Given the description of an element on the screen output the (x, y) to click on. 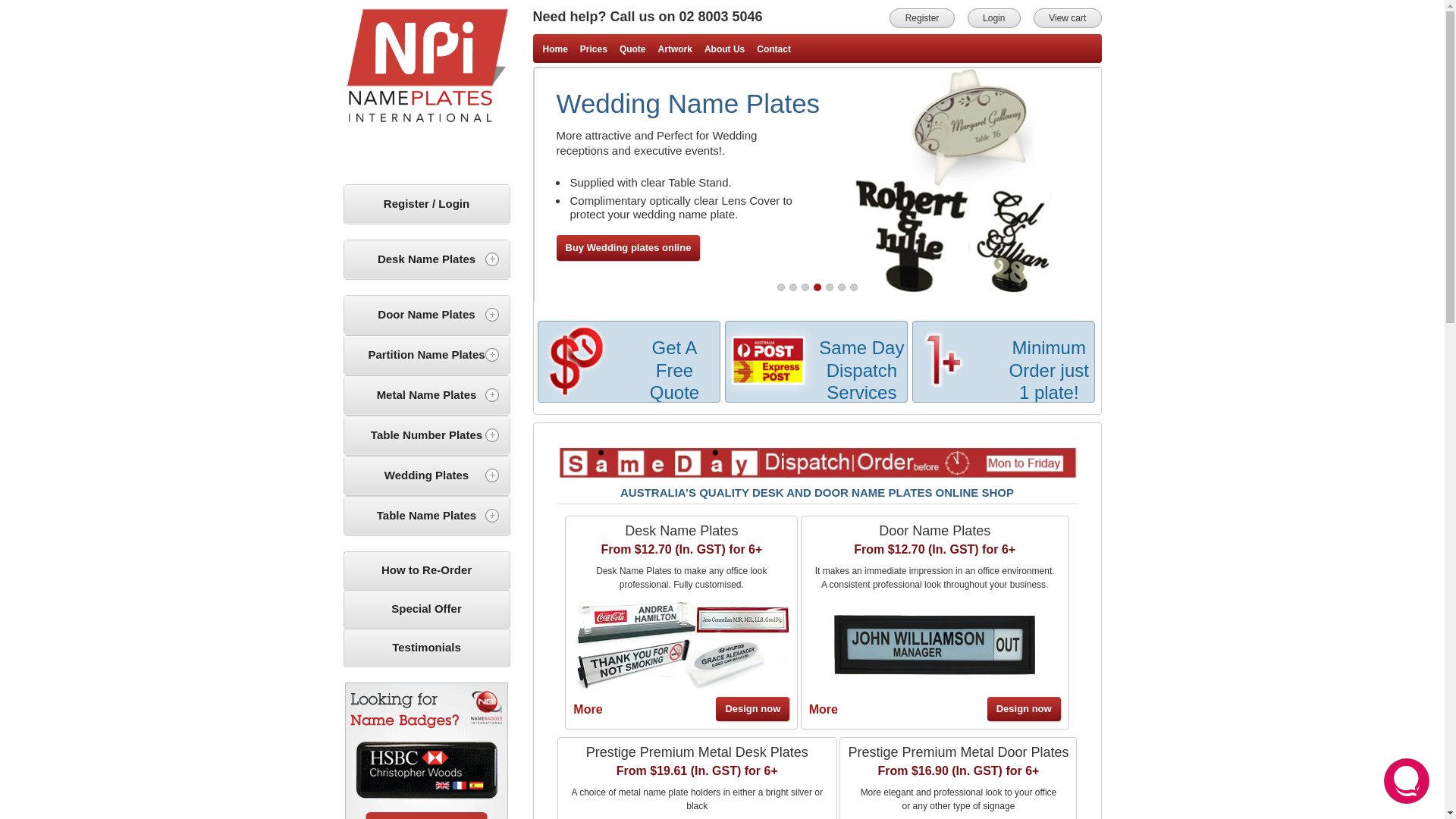
Artwork Element type: text (675, 49)
Prices Element type: text (593, 49)
More Element type: text (587, 709)
Prestige Premium Metal Desk Plates Element type: text (697, 752)
4 Element type: text (816, 287)
Door Name Plates Element type: text (934, 530)
Live Chat Element type: hover (1406, 780)
Testimonials Element type: text (426, 647)
Special Offer Element type: text (426, 608)
Login Element type: text (993, 18)
Quote Element type: text (632, 49)
Contact Element type: text (773, 49)
Desk Name Plates Element type: text (426, 259)
More Element type: text (823, 709)
About Us Element type: text (724, 49)
5 Element type: text (828, 287)
Name Plates Fast Delivery Australia Wide Element type: hover (817, 462)
Same Day
Dispatch Services Element type: text (816, 361)
Table Name Plates Element type: text (426, 515)
Design now Element type: text (752, 708)
1 Element type: text (780, 287)
Get A
Free Quote Element type: text (629, 361)
Door Name Plates Element type: text (426, 314)
Prestige Premium Metal Door Plates Element type: text (957, 752)
7 Element type: text (852, 287)
View cart Element type: text (1067, 18)
Metal Name Plates Element type: text (426, 395)
Home Element type: text (555, 49)
6 Element type: text (840, 287)
Table Number Plates Element type: text (426, 435)
Register / Login Element type: text (426, 204)
Register Element type: text (921, 18)
3 Element type: text (804, 287)
Minimum
Order just
1 plate! Element type: text (1003, 361)
Wedding Plates Element type: text (426, 475)
How to Re-Order Element type: text (426, 570)
Desk Name Plates Element type: text (680, 530)
2 Element type: text (792, 287)
Design now Element type: text (1023, 708)
Partition Name Plates Element type: text (426, 354)
  Element type: text (426, 87)
